Given the description of an element on the screen output the (x, y) to click on. 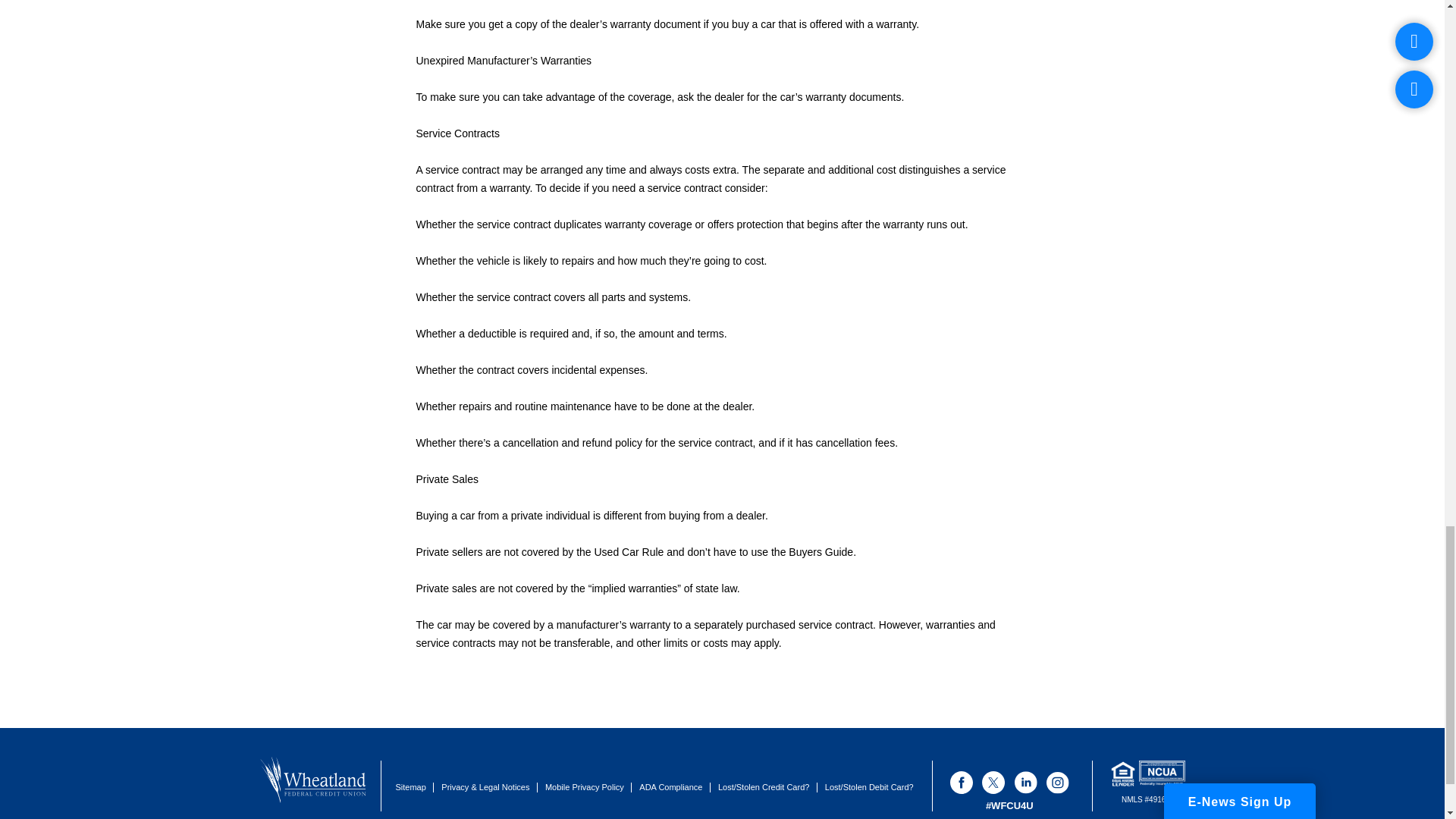
Wheatland FCU Facebook (961, 782)
Wheatland FCU Twitter (992, 782)
Wheatland FCU Instagram (1057, 782)
Wheatland FCU LinkedIn (1025, 782)
